Given the description of an element on the screen output the (x, y) to click on. 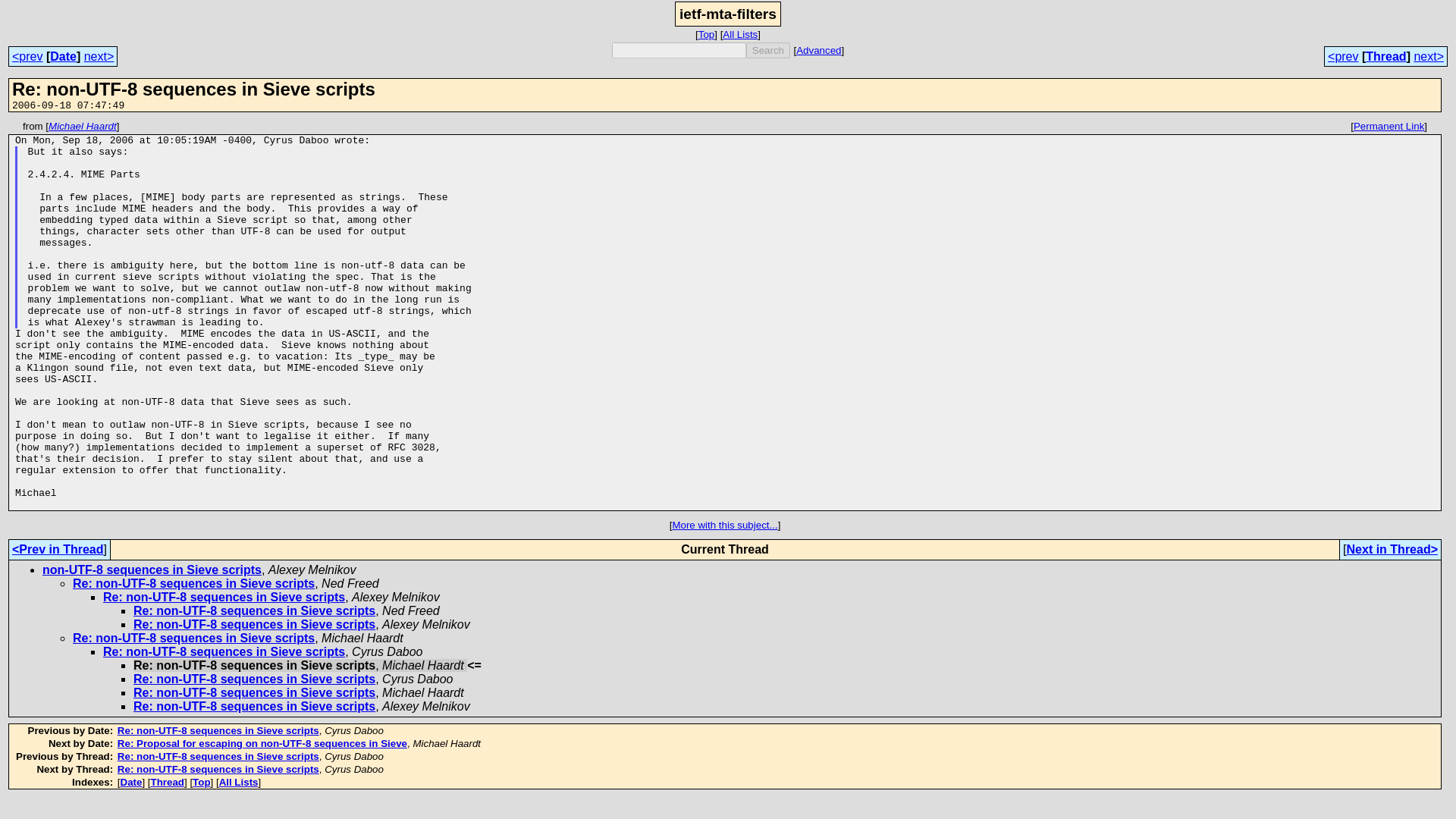
Advanced (818, 50)
Re: non-UTF-8 sequences in Sieve scripts (254, 678)
All Lists (739, 34)
Re: non-UTF-8 sequences in Sieve scripts (217, 768)
Thread (167, 781)
Re: non-UTF-8 sequences in Sieve scripts (193, 637)
Thread (1385, 56)
Re: non-UTF-8 sequences in Sieve scripts (217, 730)
Date (63, 56)
Search (767, 50)
